Given the description of an element on the screen output the (x, y) to click on. 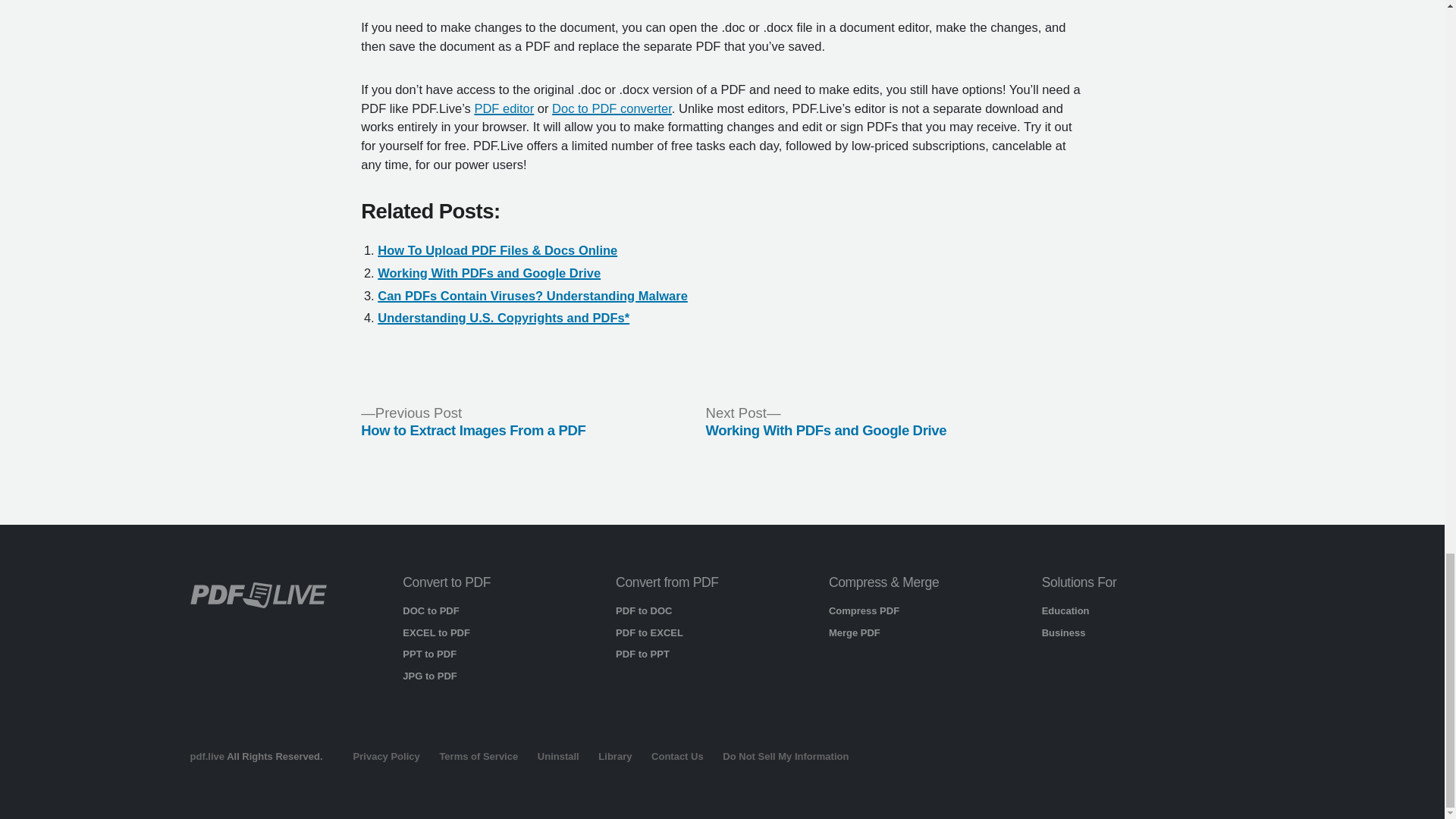
Doc to PDF converter (611, 108)
Working With PDFs and Google Drive (488, 273)
PDF editor (504, 108)
Can PDFs Contain Viruses? Understanding Malware (532, 295)
